Given the description of an element on the screen output the (x, y) to click on. 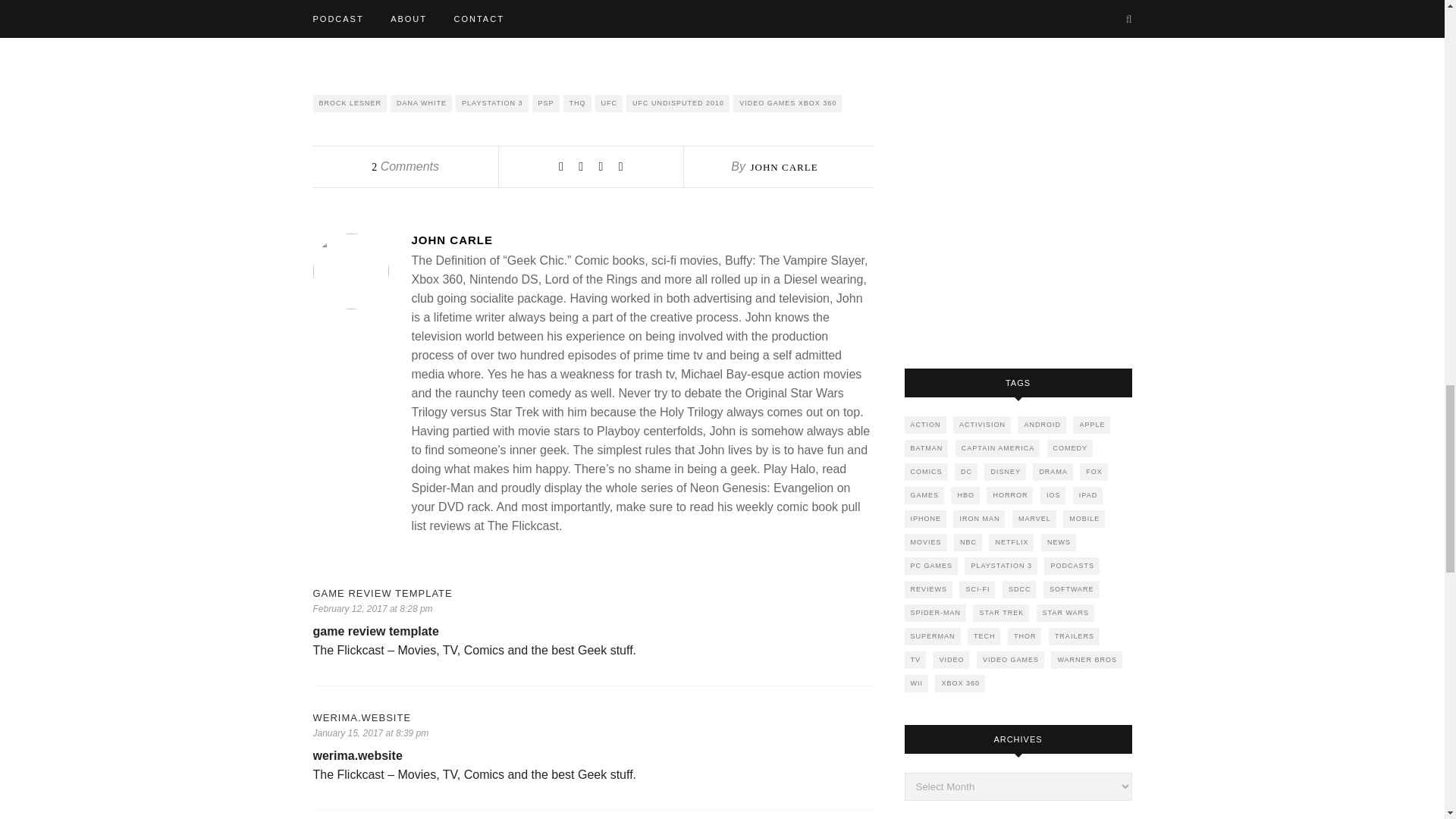
Posts by John Carle (782, 166)
JOHN CARLE (641, 239)
BROCK LESNER (350, 103)
WERIMA.WEBSITE (593, 717)
UFC UNDISPUTED 2010 (677, 103)
Posts by John Carle (641, 239)
DANA WHITE (420, 103)
THQ (577, 103)
VIDEO GAMES XBOX 360 (787, 103)
UFC (609, 103)
JOHN CARLE (782, 166)
GAME REVIEW TEMPLATE (593, 593)
PSP (545, 103)
PLAYSTATION 3 (491, 103)
2 Comments (405, 165)
